Given the description of an element on the screen output the (x, y) to click on. 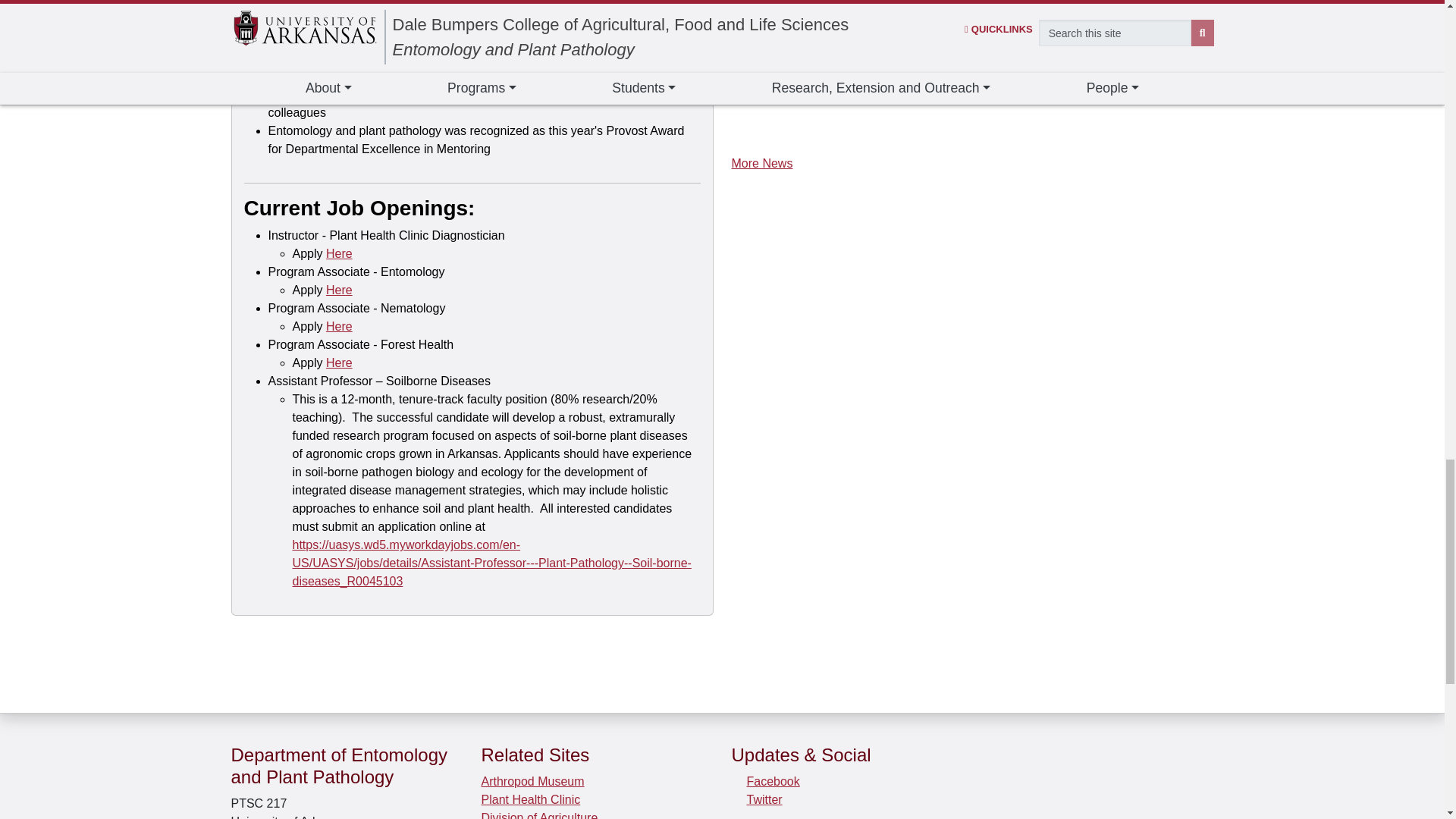
News (761, 163)
